Given the description of an element on the screen output the (x, y) to click on. 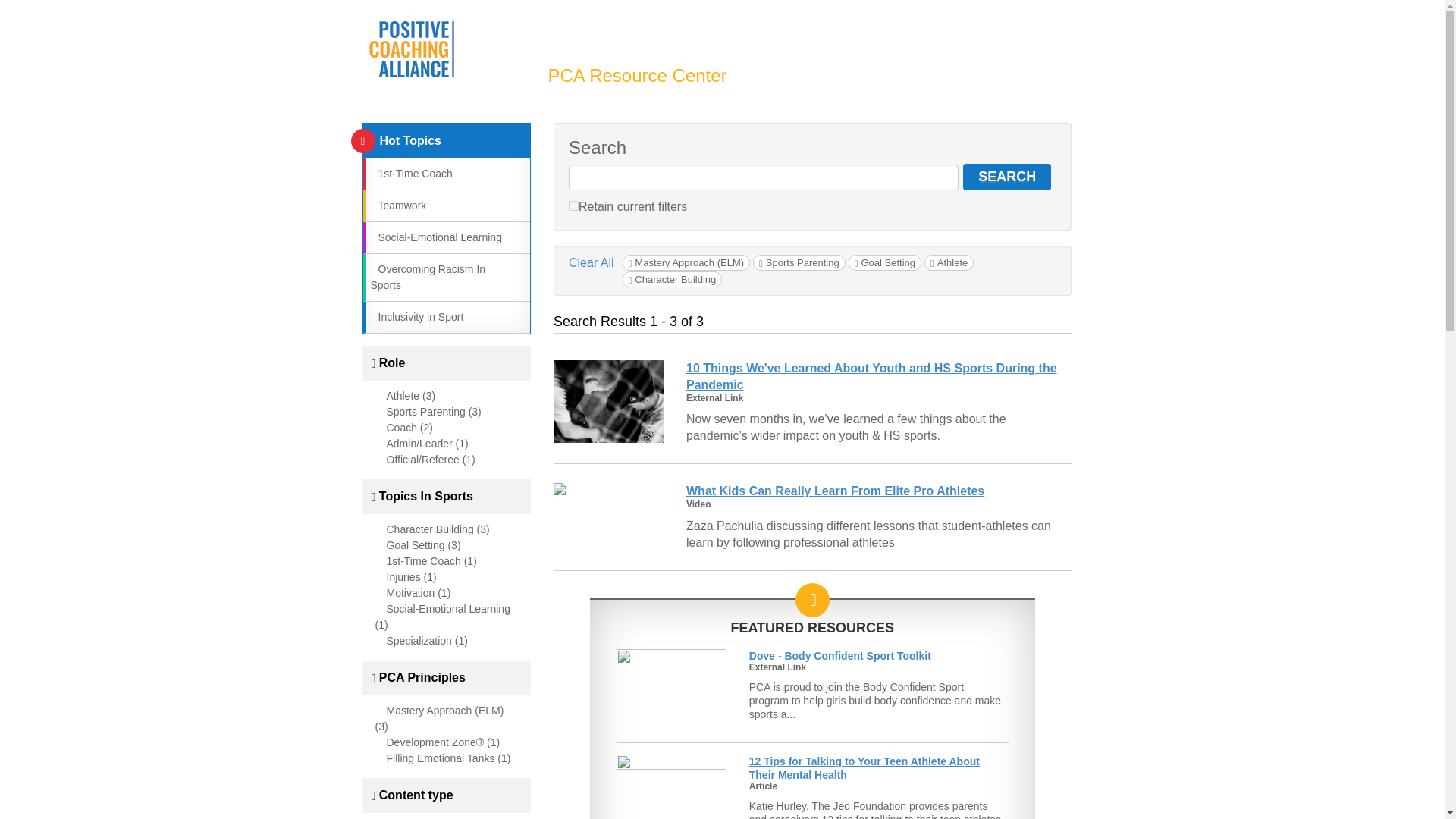
Character Building (672, 279)
Athlete (949, 262)
1 (573, 205)
Overcoming Racism In Sports (426, 276)
Inclusivity in Sport (416, 316)
What Kids Can Really Learn From Elite Pro Athletes (834, 490)
Teamwork (397, 205)
SEARCH (1006, 176)
Social-Emotional Learning (434, 236)
